Given the description of an element on the screen output the (x, y) to click on. 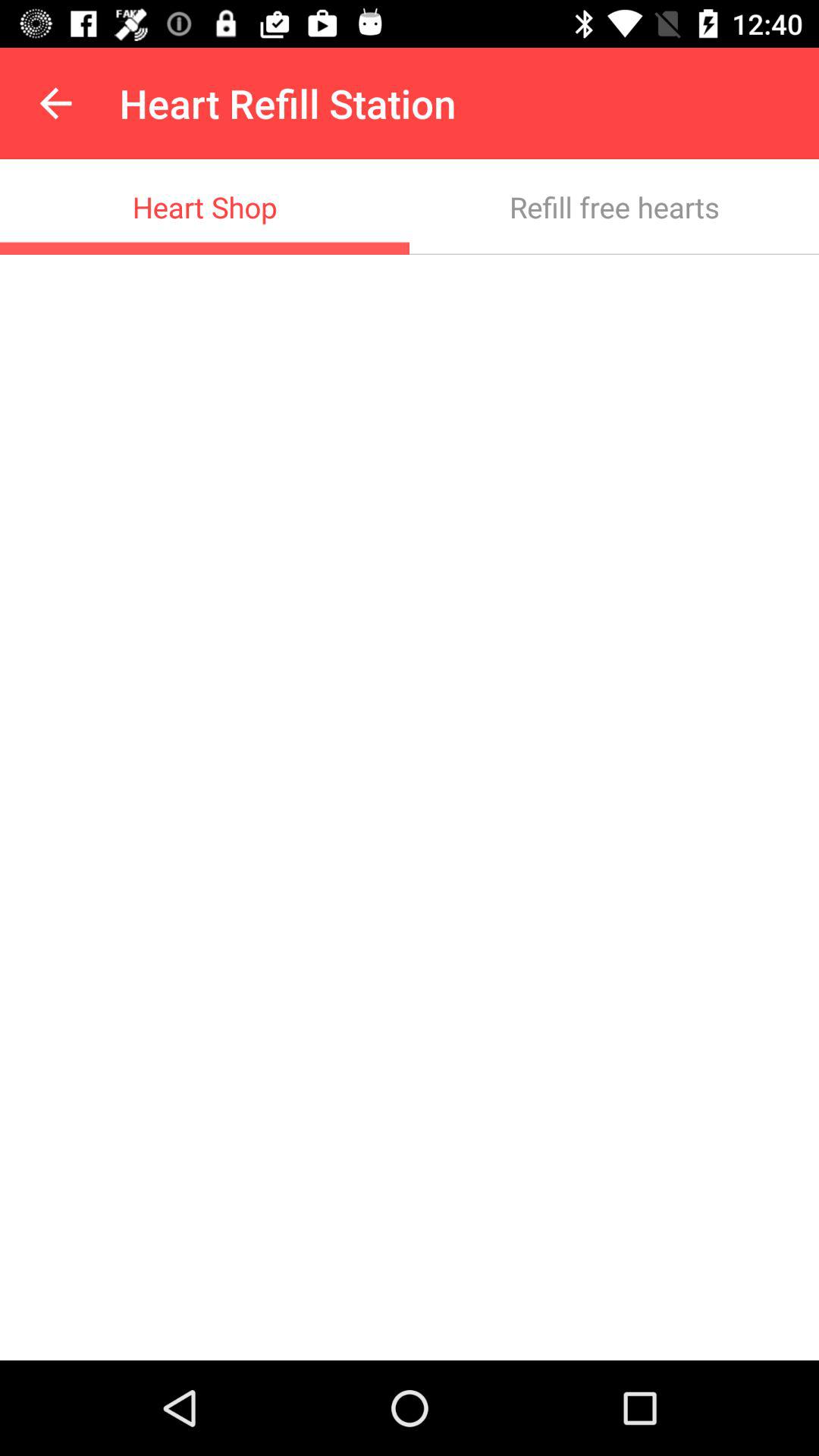
select the icon at the top right corner (614, 206)
